Given the description of an element on the screen output the (x, y) to click on. 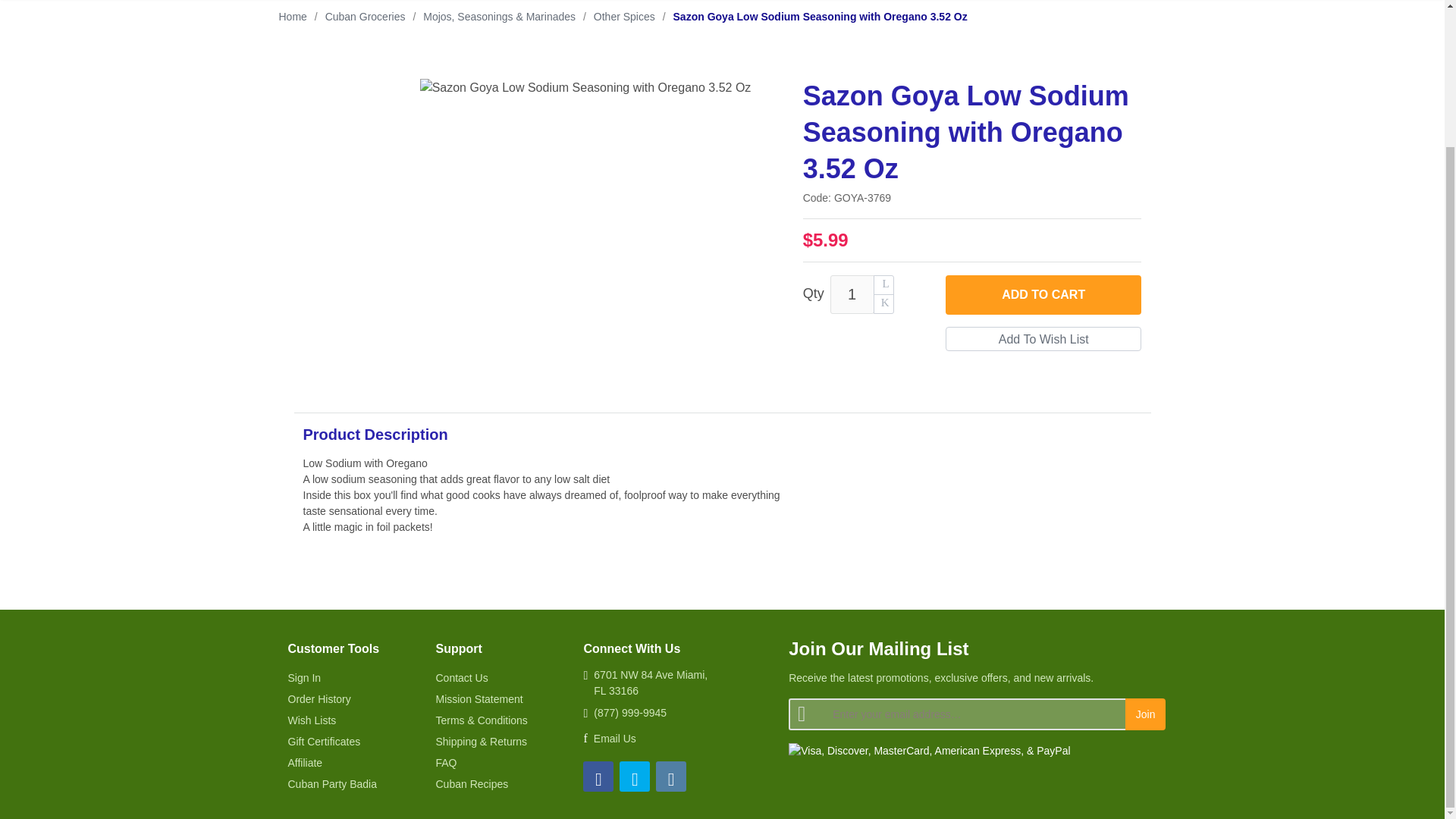
Facebook (597, 776)
Twitter (634, 776)
1 (852, 294)
Add To Wish List (1042, 338)
Instagram (670, 776)
